Given the description of an element on the screen output the (x, y) to click on. 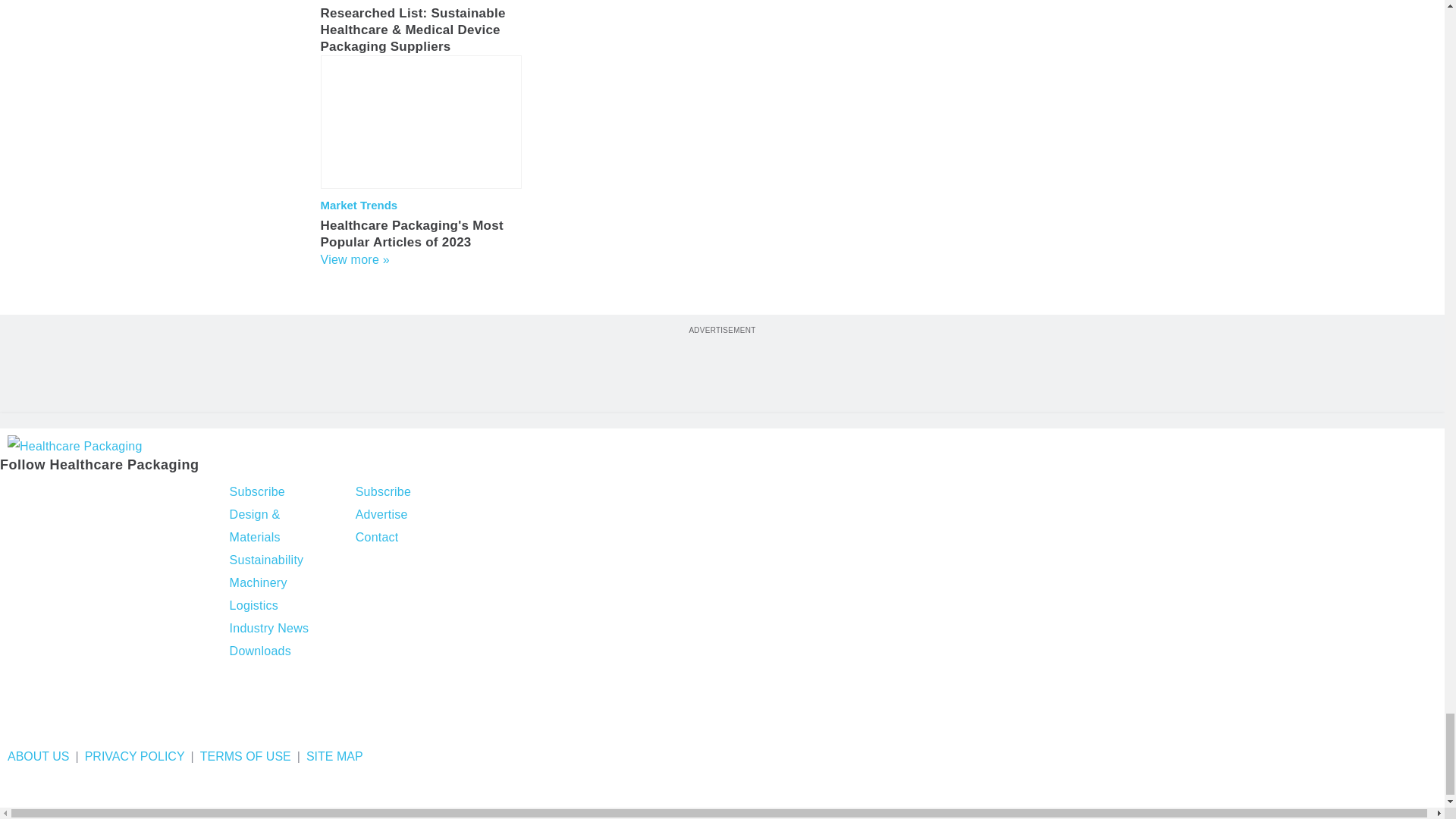
Facebook icon (13, 493)
YouTube icon (133, 493)
LinkedIn icon (94, 493)
Twitter X icon (52, 493)
